Given the description of an element on the screen output the (x, y) to click on. 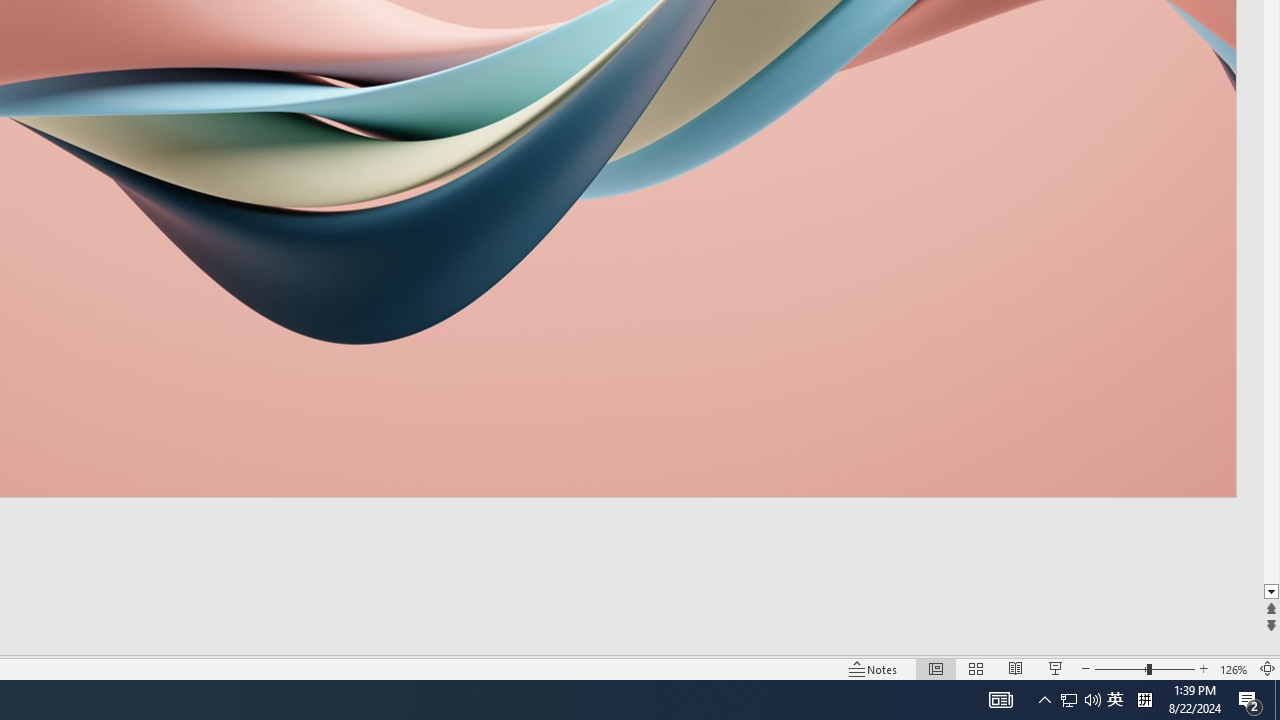
Zoom 126% (1234, 668)
